Given the description of an element on the screen output the (x, y) to click on. 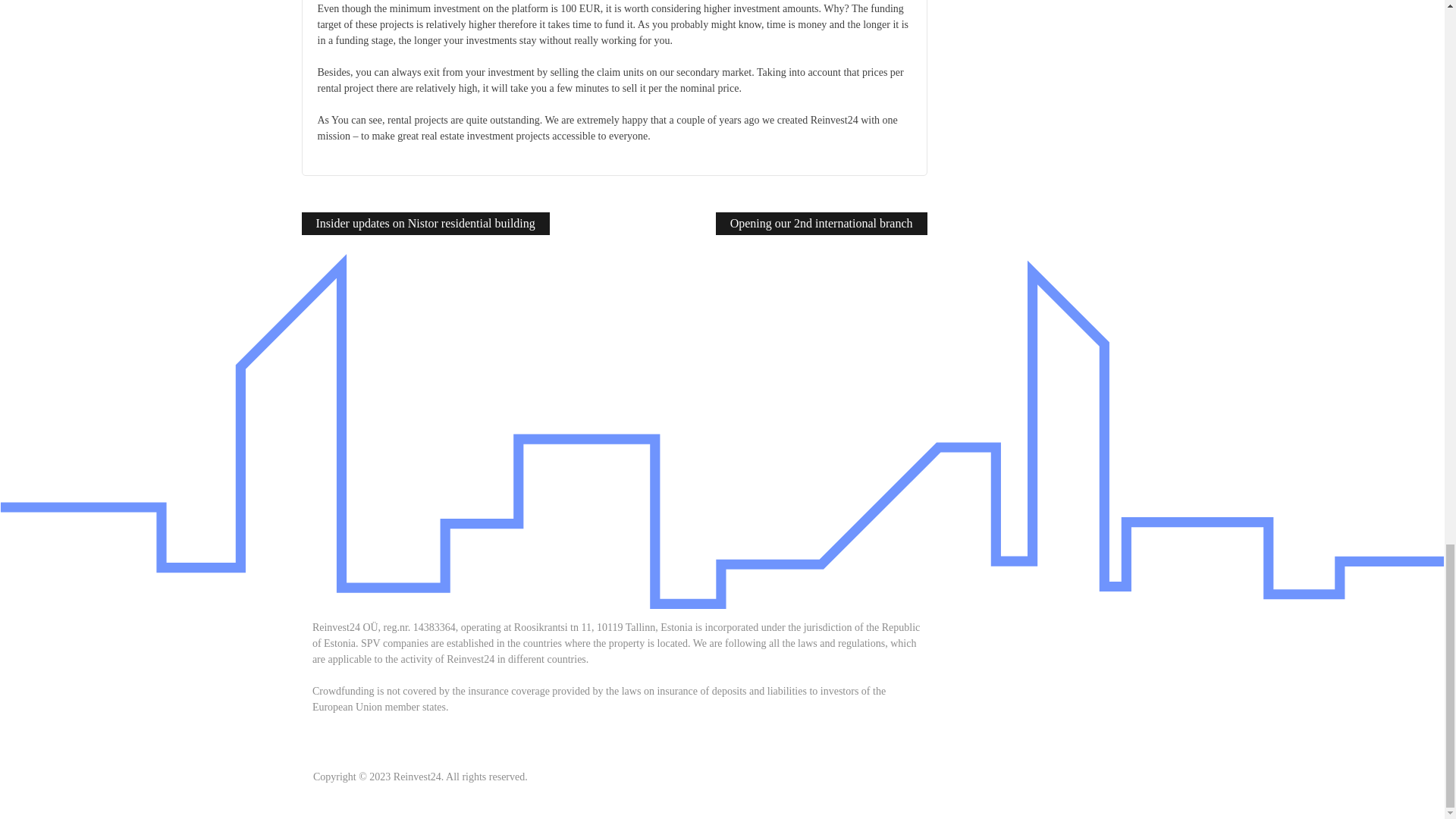
Insider updates on Nistor residential building (425, 223)
Opening our 2nd international branch (821, 223)
